Given the description of an element on the screen output the (x, y) to click on. 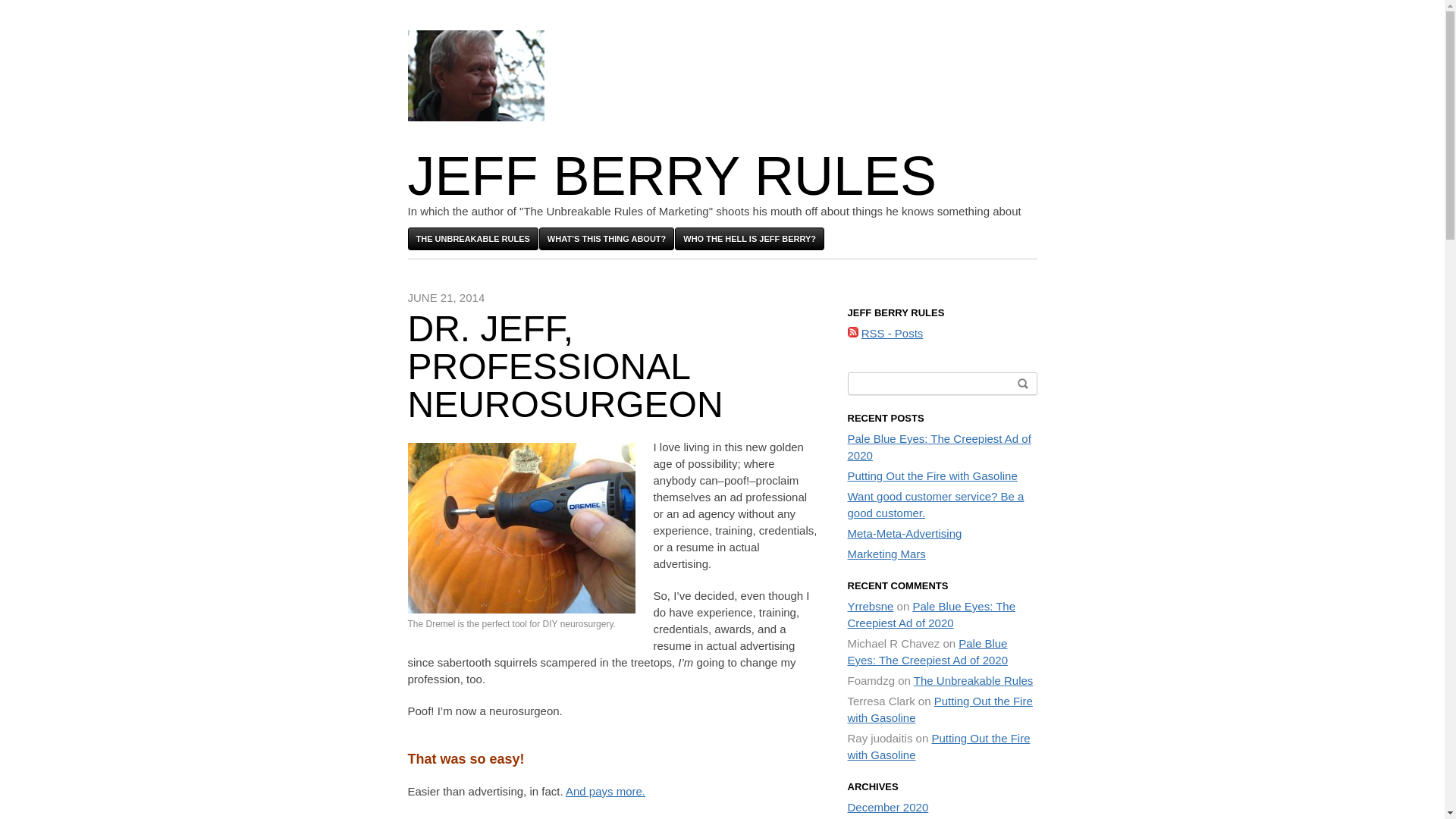
THE UNBREAKABLE RULES (472, 238)
Pale Blue Eyes: The Creepiest Ad of 2020 (928, 651)
RSS - Posts (892, 332)
Bureau of Labor Statistics wage report (605, 790)
Putting Out the Fire with Gasoline (938, 746)
Pale Blue Eyes: The Creepiest Ad of 2020 (931, 614)
Marketing Mars (886, 553)
JEFF BERRY RULES (672, 175)
Meta-Meta-Advertising (904, 533)
Subscribe to Posts (892, 332)
WHO THE HELL IS JEFF BERRY? (749, 238)
Want good customer service? Be a good customer. (936, 504)
The Unbreakable Rules (973, 680)
Jeff Berry Rules (672, 175)
Putting Out the Fire with Gasoline (932, 475)
